Given the description of an element on the screen output the (x, y) to click on. 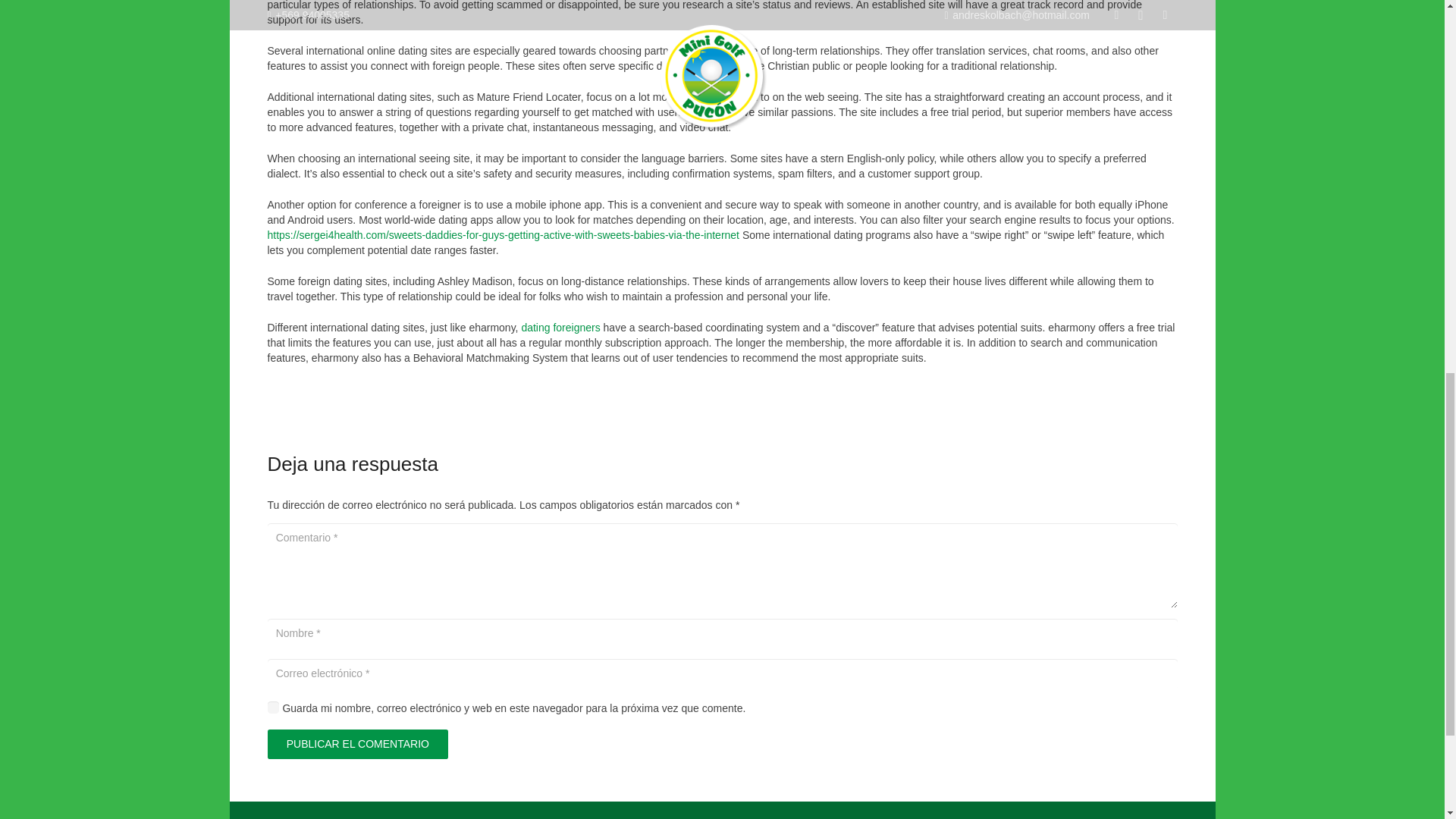
dating foreigners (560, 327)
PUBLICAR EL COMENTARIO (357, 744)
Volver arriba (1413, 22)
1 (272, 707)
